Given the description of an element on the screen output the (x, y) to click on. 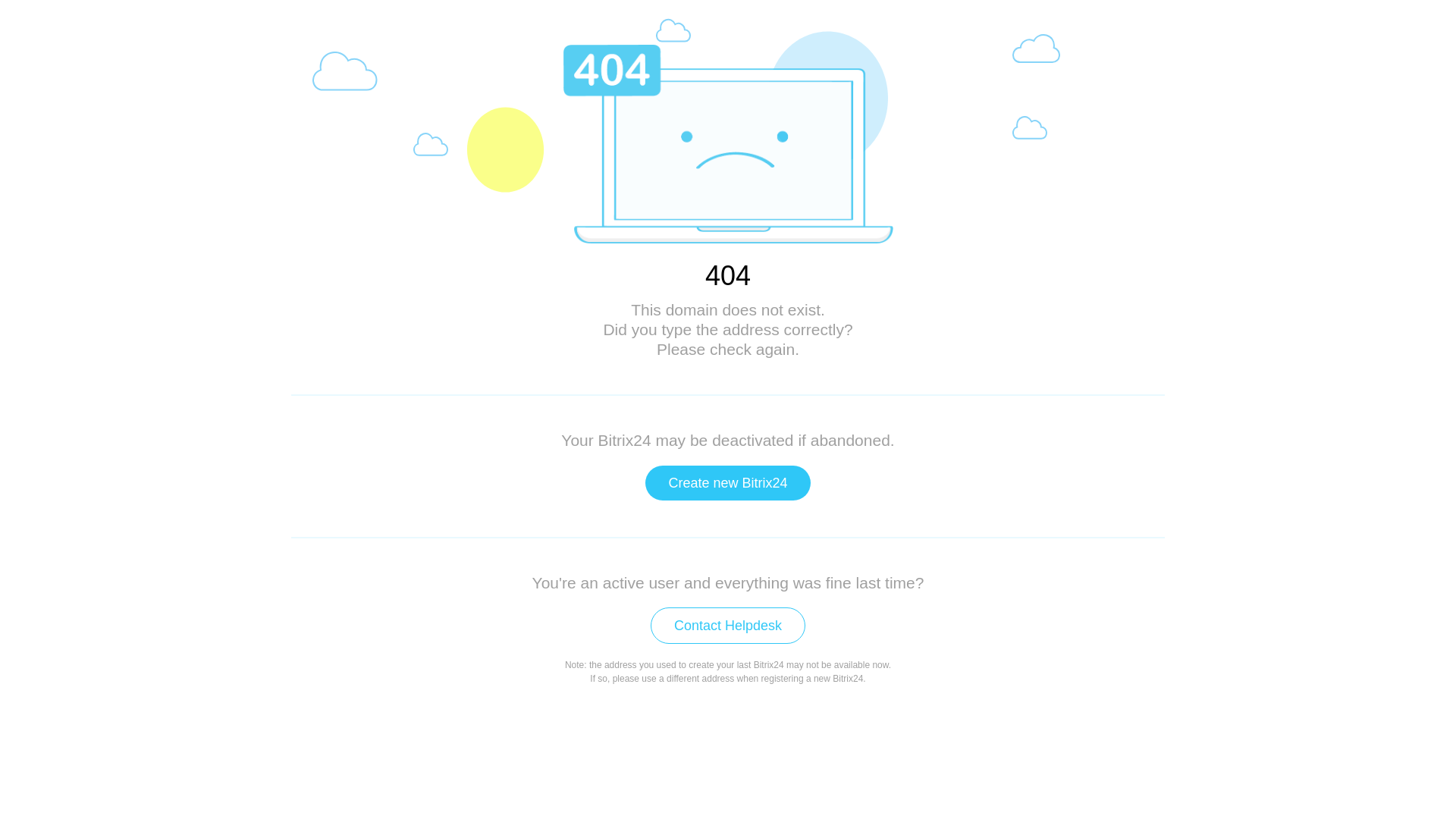
Contact Helpdesk Element type: text (727, 625)
Create new Bitrix24 Element type: text (727, 482)
